Given the description of an element on the screen output the (x, y) to click on. 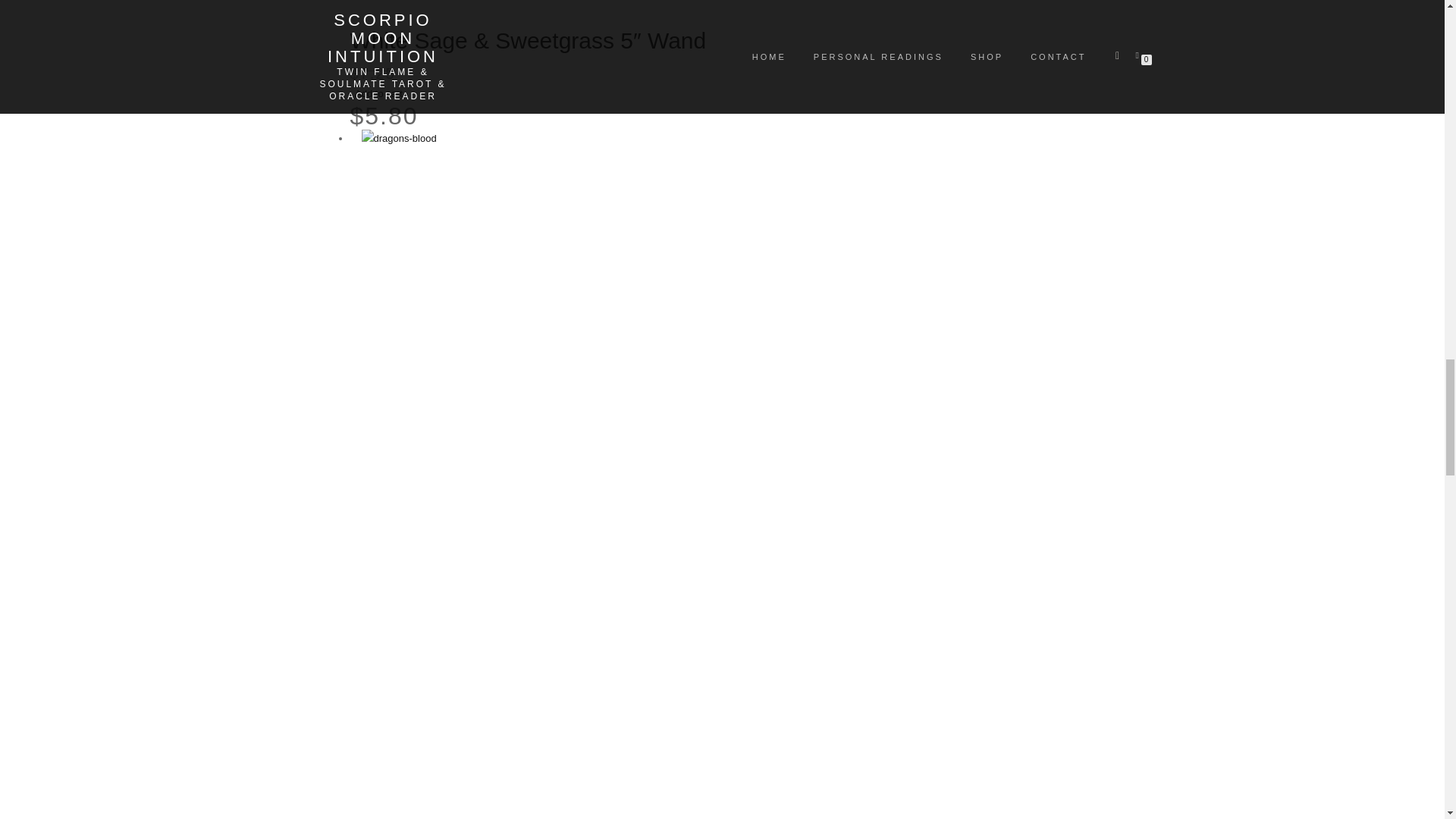
Add to cart (379, 93)
